Given the description of an element on the screen output the (x, y) to click on. 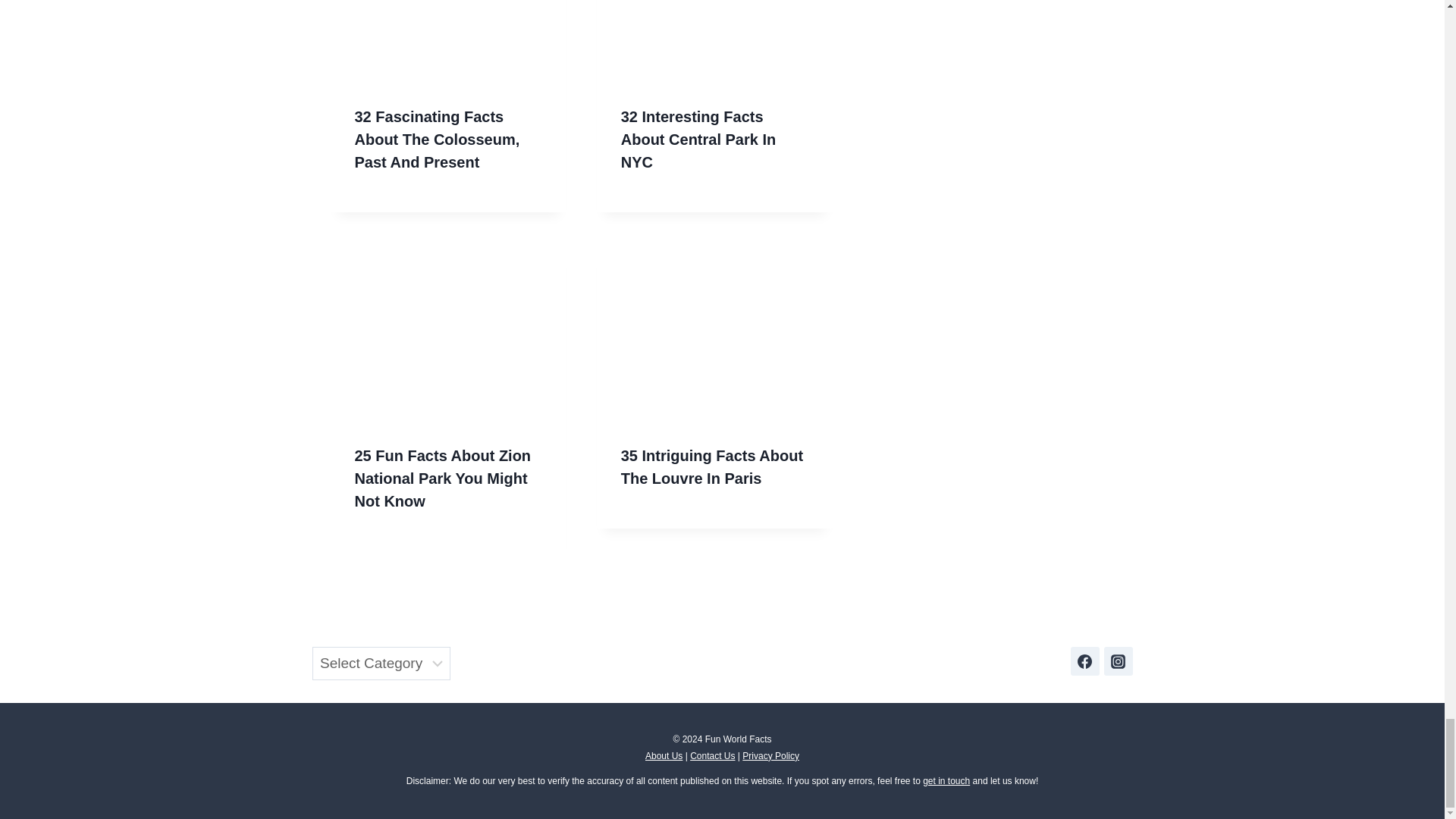
32 Fascinating Facts About The Colosseum, Past And Present (437, 139)
32 Interesting Facts About Central Park In NYC (698, 139)
35 Intriguing Facts About The Louvre In Paris (712, 466)
25 Fun Facts About Zion National Park You Might Not Know (443, 478)
